Given the description of an element on the screen output the (x, y) to click on. 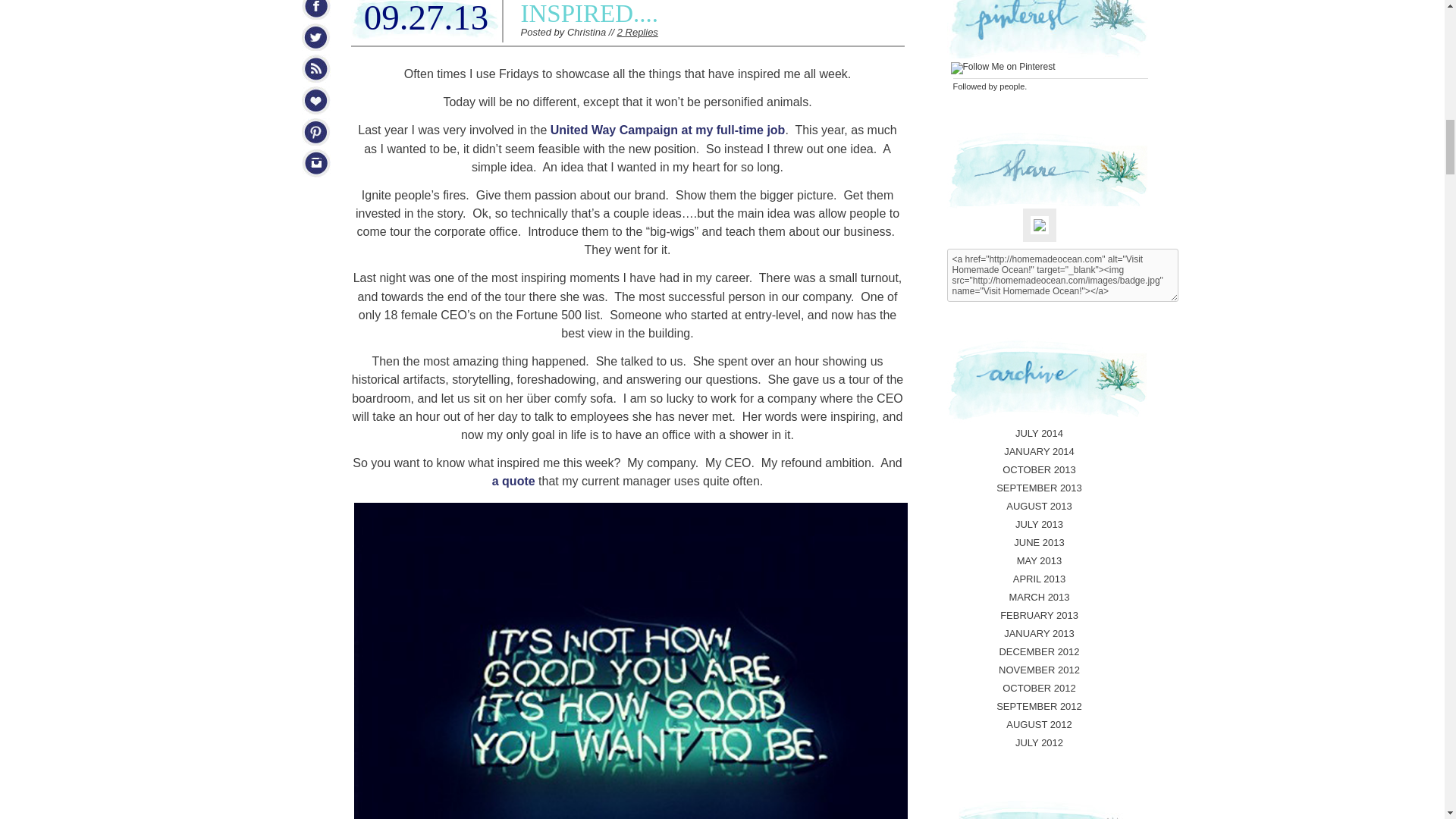
a quote (515, 481)
United Way Campaign at my full-time job (668, 129)
2 Replies (637, 31)
INSPIRED.... (588, 13)
